Given the description of an element on the screen output the (x, y) to click on. 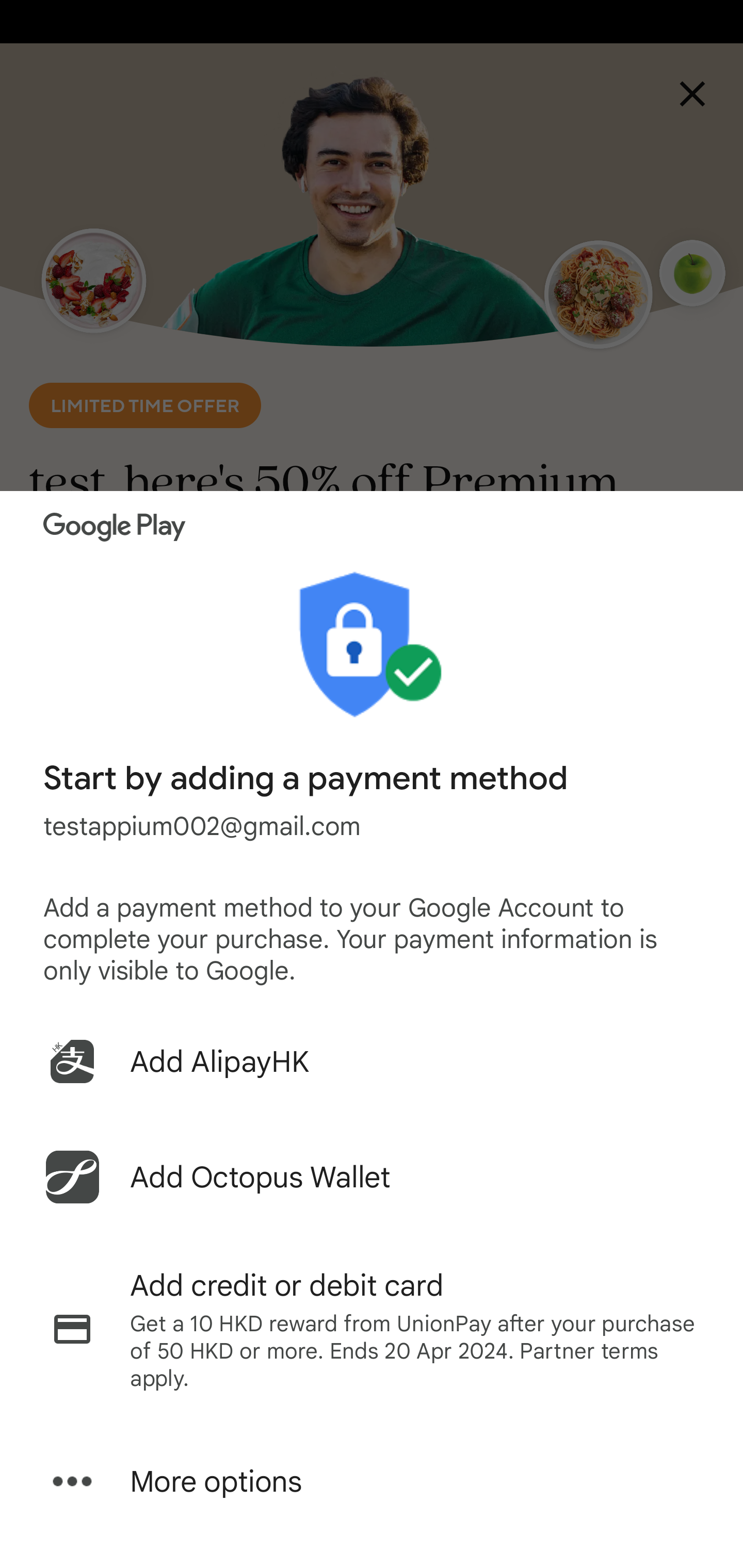
Add AlipayHK (371, 1061)
Add Octopus Wallet (371, 1177)
More options (371, 1481)
